Given the description of an element on the screen output the (x, y) to click on. 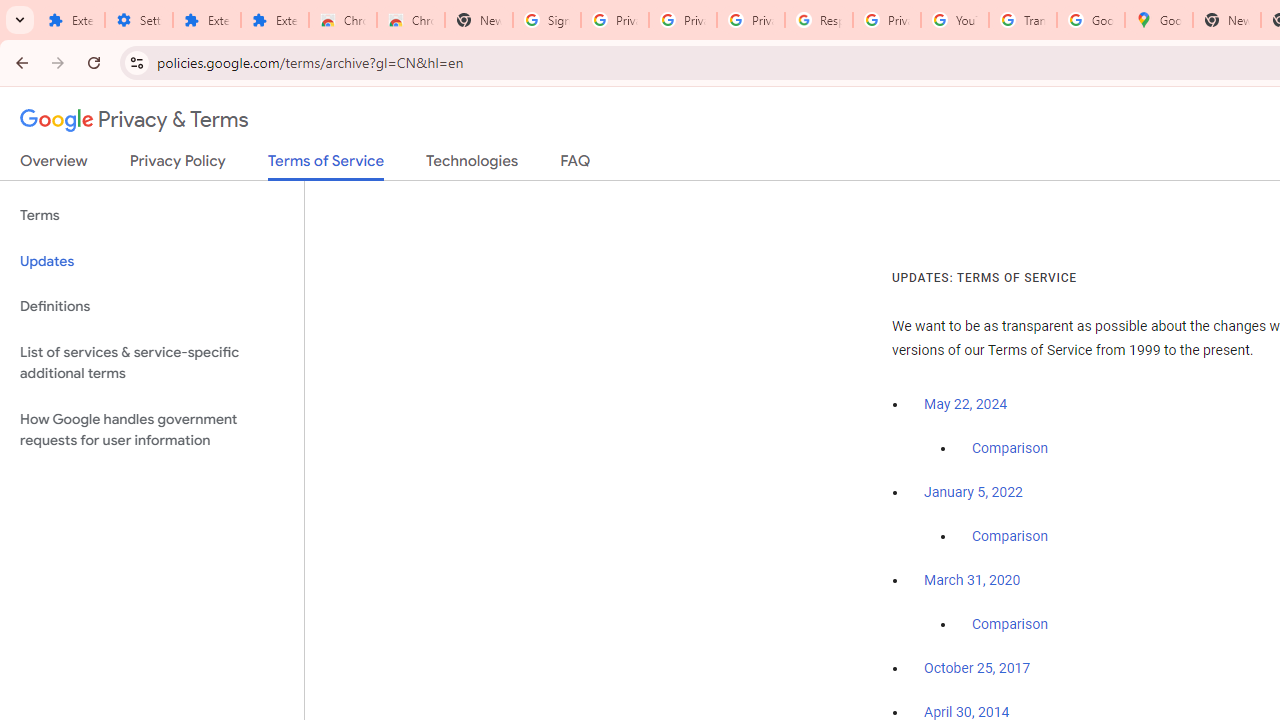
Chrome Web Store (342, 20)
Chrome Web Store - Themes (411, 20)
New Tab (479, 20)
Comparison (1009, 625)
Extensions (206, 20)
